Given the description of an element on the screen output the (x, y) to click on. 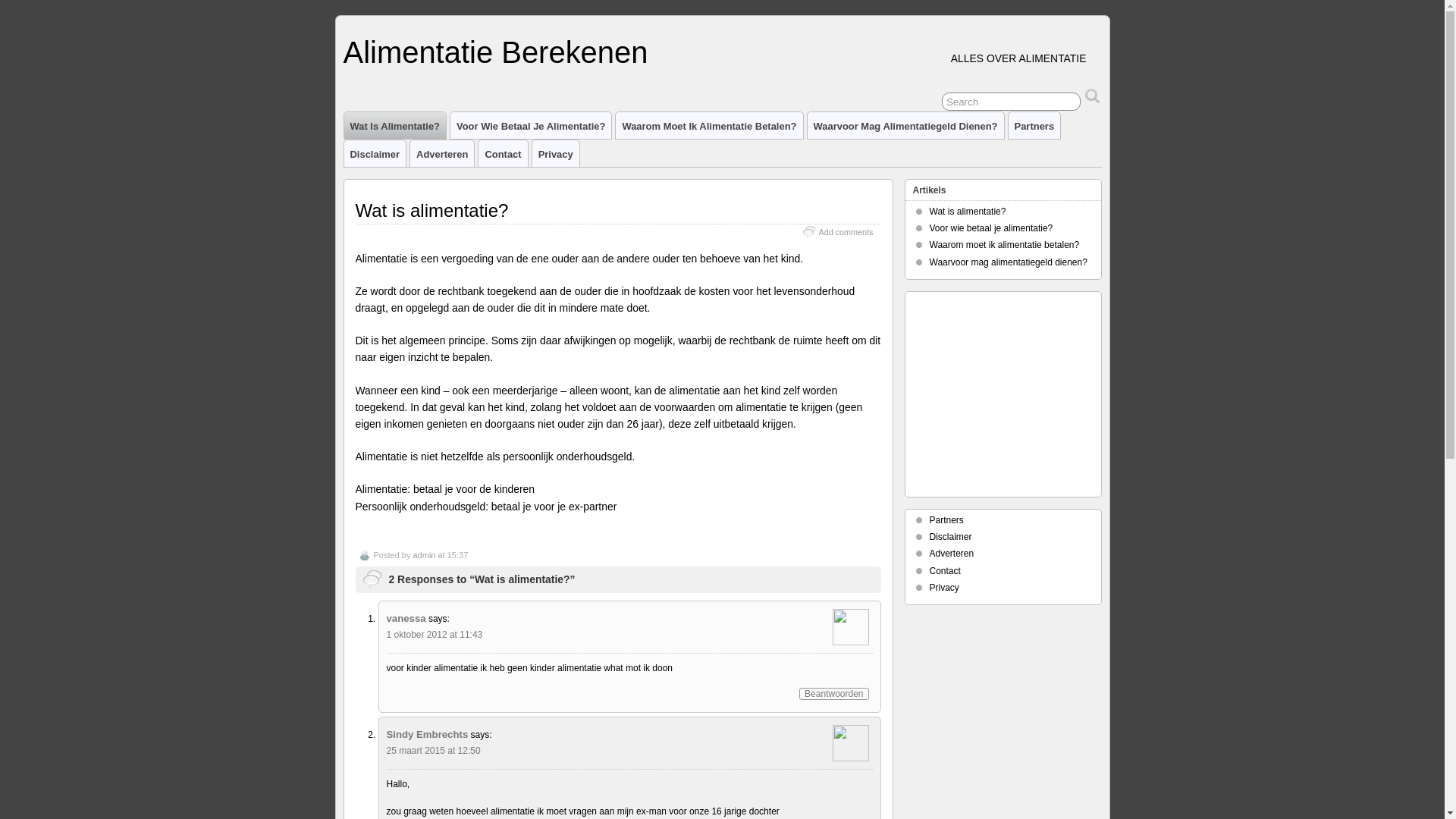
Waarom moet ik alimentatie betalen? Element type: text (1004, 244)
Sindy Embrechts Element type: text (427, 734)
Privacy Element type: text (555, 153)
Privacy Element type: text (944, 587)
Wat Is Alimentatie? Element type: text (395, 125)
Beantwoorden Element type: text (833, 693)
Alimentatie Berekenen Element type: text (494, 52)
Voor Wie Betaal Je Alimentatie? Element type: text (530, 125)
Wat is alimentatie? Element type: text (967, 211)
Contact Element type: text (944, 570)
25 maart 2015 at 12:50 Element type: text (433, 750)
Partners Element type: text (1034, 125)
Waarvoor Mag Alimentatiegeld Dienen? Element type: text (904, 125)
Waarvoor mag alimentatiegeld dienen? Element type: text (1008, 262)
Disclaimer Element type: text (375, 153)
Adverteren Element type: text (441, 153)
1 oktober 2012 at 11:43 Element type: text (434, 634)
admin Element type: text (423, 554)
Add comments Element type: text (845, 231)
Contact Element type: text (502, 153)
Partners Element type: text (946, 519)
Disclaimer Element type: text (950, 536)
Voor wie betaal je alimentatie? Element type: text (991, 227)
Adverteren Element type: text (951, 553)
Waarom Moet Ik Alimentatie Betalen? Element type: text (708, 125)
Advertisement Element type: hover (1007, 390)
